Given the description of an element on the screen output the (x, y) to click on. 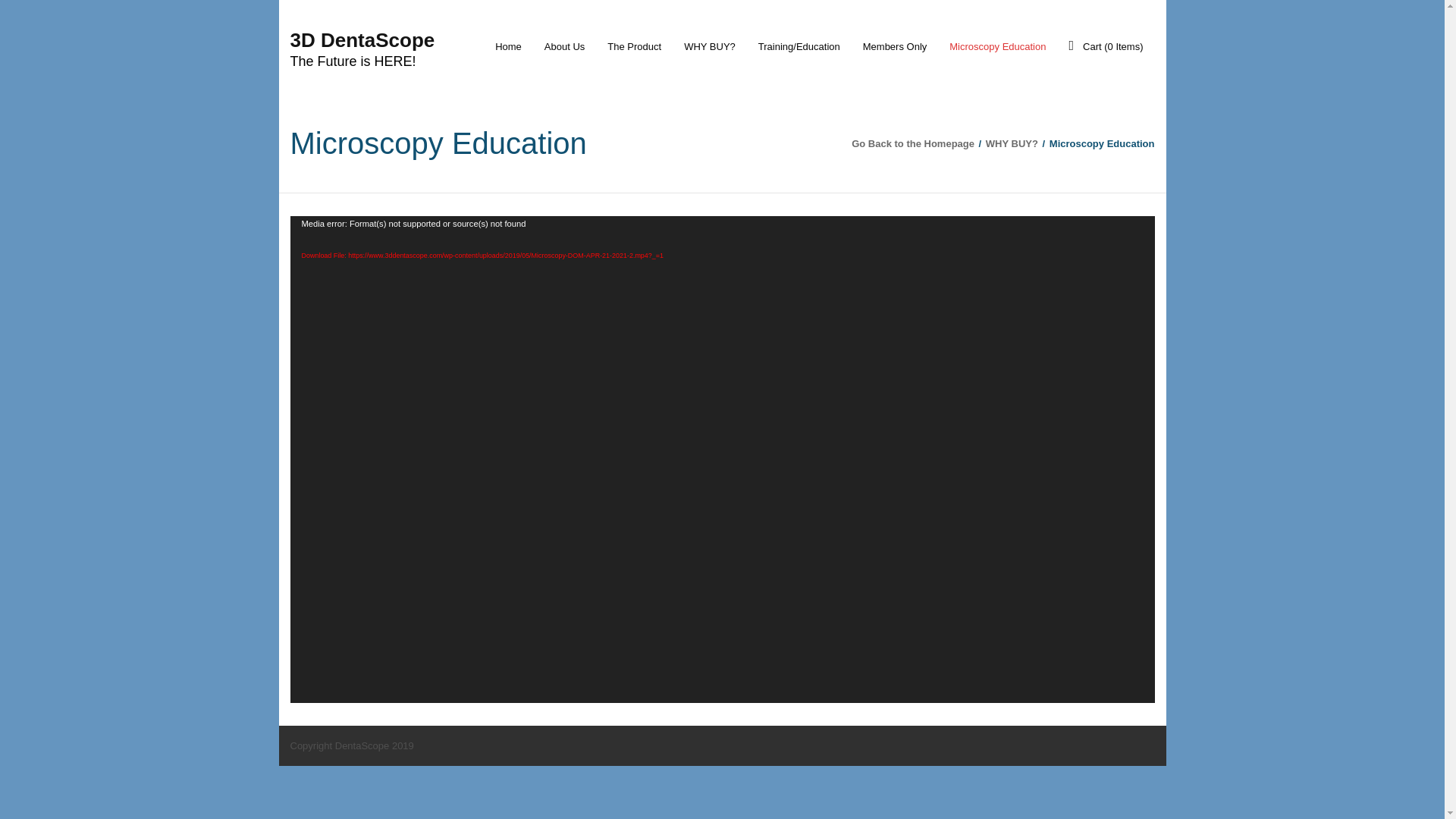
Microscopy Education Element type: text (997, 46)
About Us Element type: text (564, 46)
WHY BUY? Element type: text (1011, 143)
The Product Element type: text (634, 46)
3D DentaScope
The Future is HERE! Element type: text (361, 47)
Home Element type: text (508, 46)
Cart (0 Items) Element type: text (1105, 46)
Members Only Element type: text (894, 46)
WHY BUY? Element type: text (709, 46)
Training/Education Element type: text (798, 46)
Go Back to the Homepage Element type: text (912, 143)
